Given the description of an element on the screen output the (x, y) to click on. 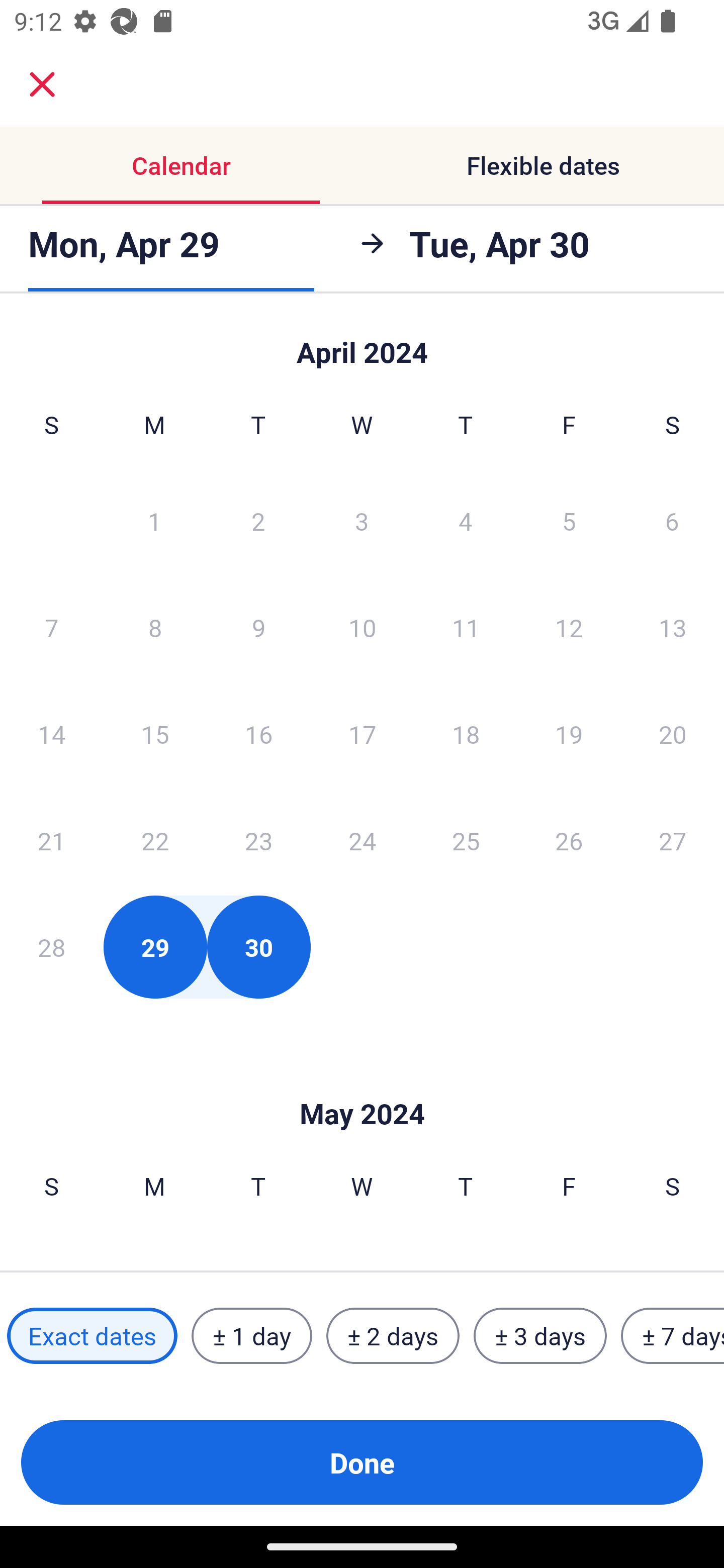
close. (42, 84)
Flexible dates (542, 164)
Skip to Done (362, 343)
1 Monday, April 1, 2024 (154, 520)
2 Tuesday, April 2, 2024 (257, 520)
3 Wednesday, April 3, 2024 (361, 520)
4 Thursday, April 4, 2024 (465, 520)
5 Friday, April 5, 2024 (568, 520)
6 Saturday, April 6, 2024 (672, 520)
7 Sunday, April 7, 2024 (51, 626)
8 Monday, April 8, 2024 (155, 626)
9 Tuesday, April 9, 2024 (258, 626)
10 Wednesday, April 10, 2024 (362, 626)
11 Thursday, April 11, 2024 (465, 626)
12 Friday, April 12, 2024 (569, 626)
13 Saturday, April 13, 2024 (672, 626)
14 Sunday, April 14, 2024 (51, 733)
15 Monday, April 15, 2024 (155, 733)
16 Tuesday, April 16, 2024 (258, 733)
17 Wednesday, April 17, 2024 (362, 733)
18 Thursday, April 18, 2024 (465, 733)
19 Friday, April 19, 2024 (569, 733)
20 Saturday, April 20, 2024 (672, 733)
21 Sunday, April 21, 2024 (51, 840)
22 Monday, April 22, 2024 (155, 840)
23 Tuesday, April 23, 2024 (258, 840)
24 Wednesday, April 24, 2024 (362, 840)
25 Thursday, April 25, 2024 (465, 840)
26 Friday, April 26, 2024 (569, 840)
27 Saturday, April 27, 2024 (672, 840)
28 Sunday, April 28, 2024 (51, 946)
Skip to Done (362, 1083)
Exact dates (92, 1335)
± 1 day (251, 1335)
± 2 days (392, 1335)
± 3 days (539, 1335)
± 7 days (672, 1335)
Done (361, 1462)
